Given the description of an element on the screen output the (x, y) to click on. 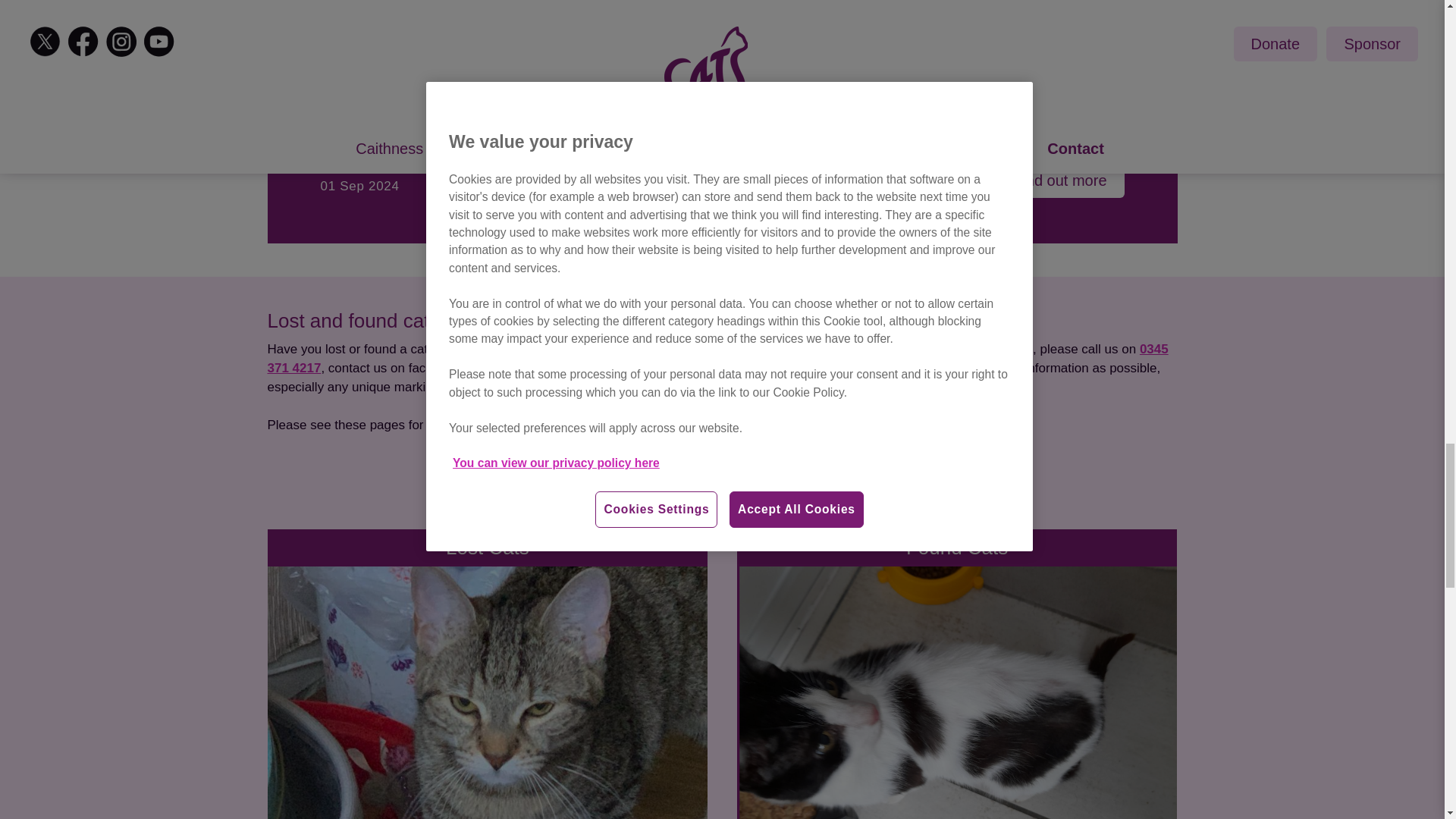
found cats (648, 426)
lost cats (570, 426)
